Given the description of an element on the screen output the (x, y) to click on. 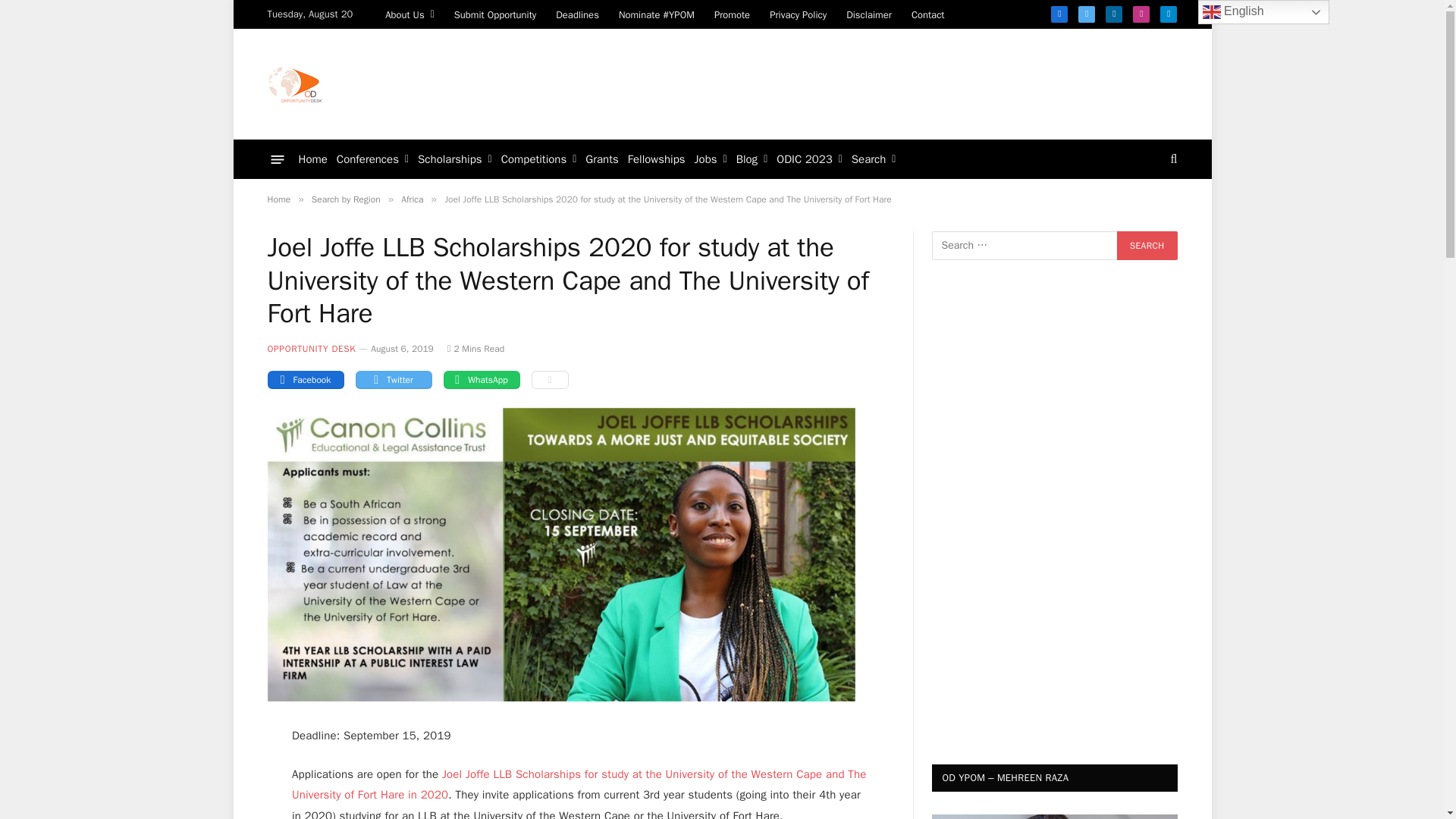
Share on Facebook (304, 380)
Opportunity Desk (293, 83)
Posts by Opportunity Desk (310, 348)
Share on WhatsApp (480, 380)
Show More Social Sharing (549, 380)
Search (1146, 245)
Advertisement (900, 81)
Search (1146, 245)
